Given the description of an element on the screen output the (x, y) to click on. 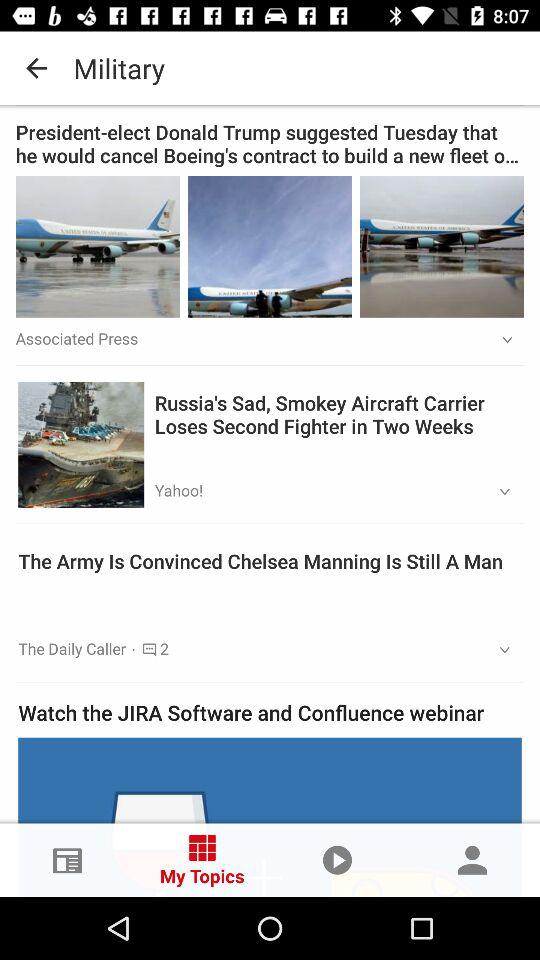
turn off the icon below the russia s sad icon (498, 492)
